Given the description of an element on the screen output the (x, y) to click on. 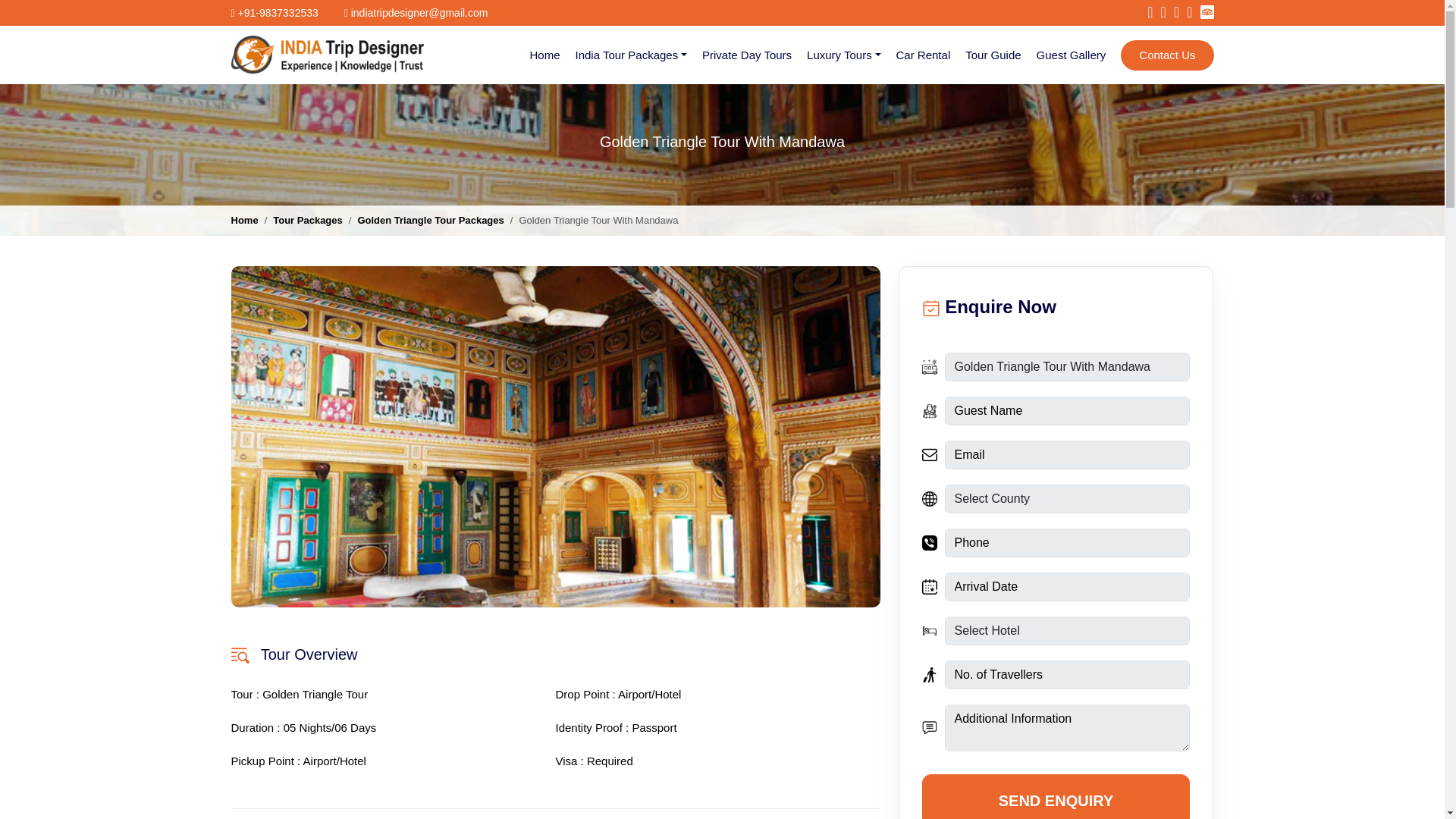
Guest Gallery (1071, 55)
Tour Packages (307, 220)
SEND ENQUIRY (1056, 796)
Home (243, 220)
Contact Us (1166, 55)
Golden Triangle Tour With Mandawa (1067, 366)
Car Rental (923, 55)
Luxury Tours (843, 55)
India Tour Packages (630, 55)
Private Day Tours (746, 55)
Tour Guide (992, 55)
Home (544, 55)
Golden Triangle Tour Packages (429, 220)
